Given the description of an element on the screen output the (x, y) to click on. 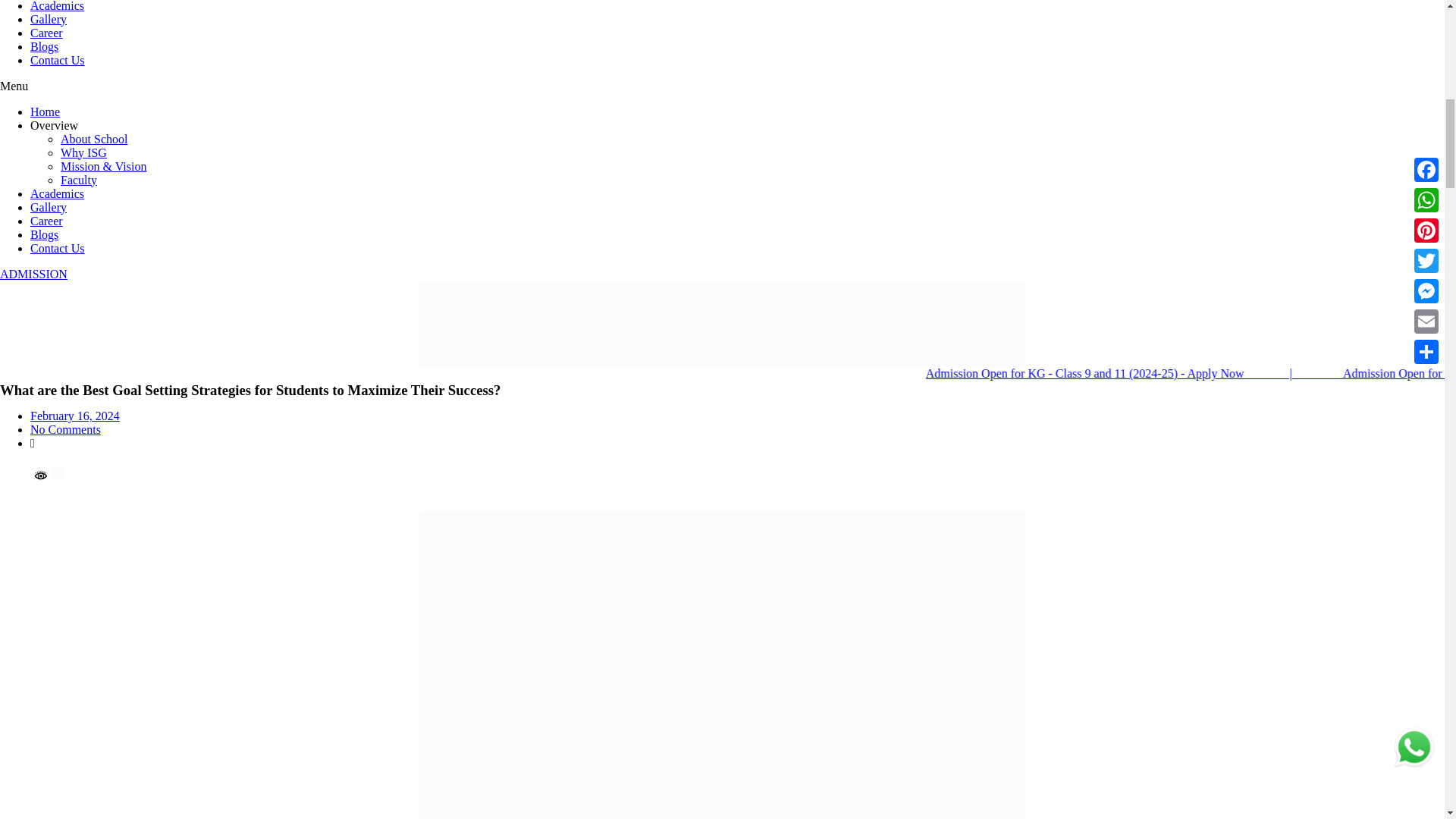
Home (44, 111)
ADMISSION (33, 273)
Faculty (79, 179)
Career (46, 220)
February 16, 2024 (74, 415)
About School (94, 138)
No Comments (65, 429)
Academics (57, 193)
Overview (54, 124)
Gallery (48, 206)
